Given the description of an element on the screen output the (x, y) to click on. 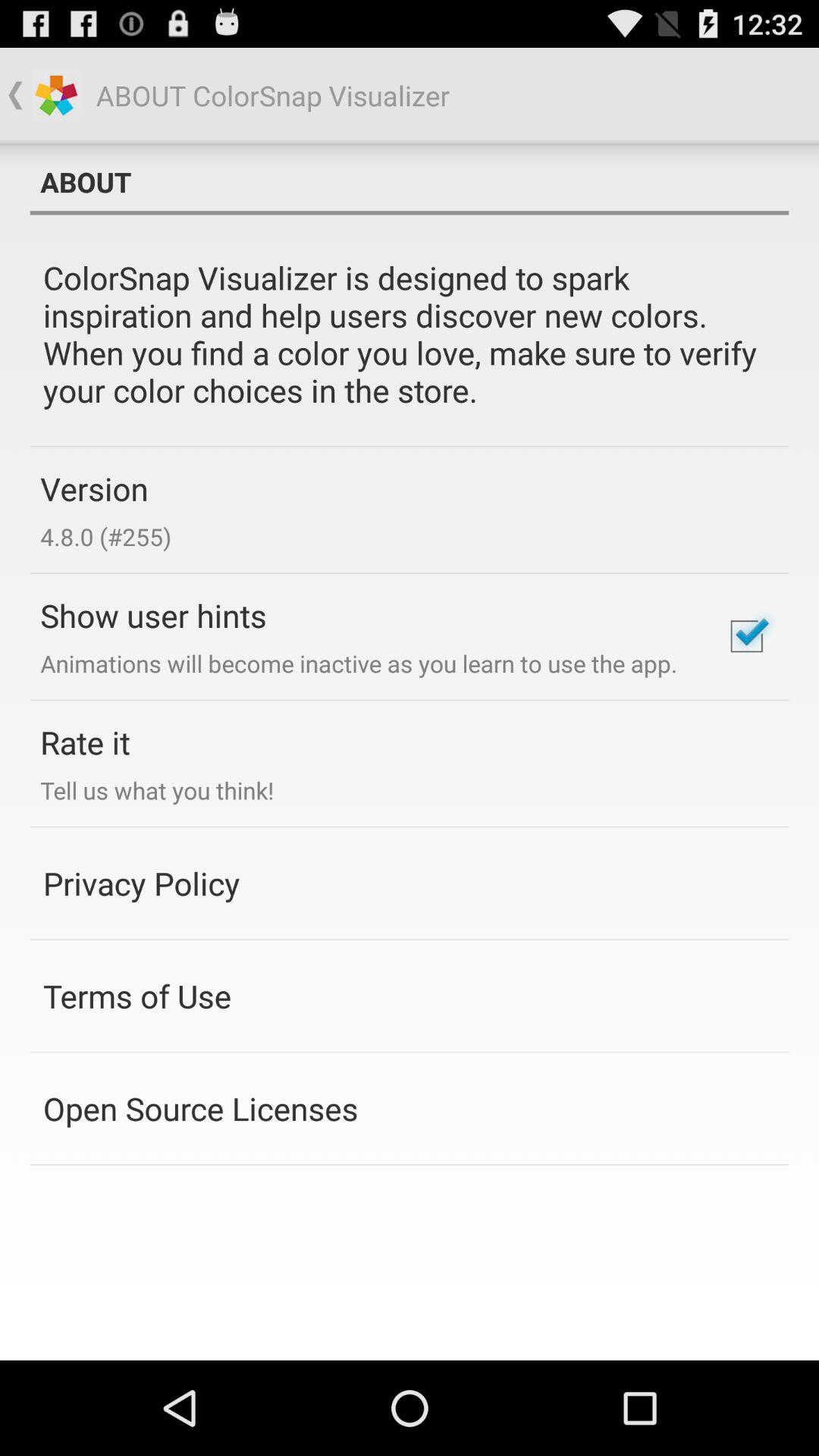
switch option (746, 636)
